Given the description of an element on the screen output the (x, y) to click on. 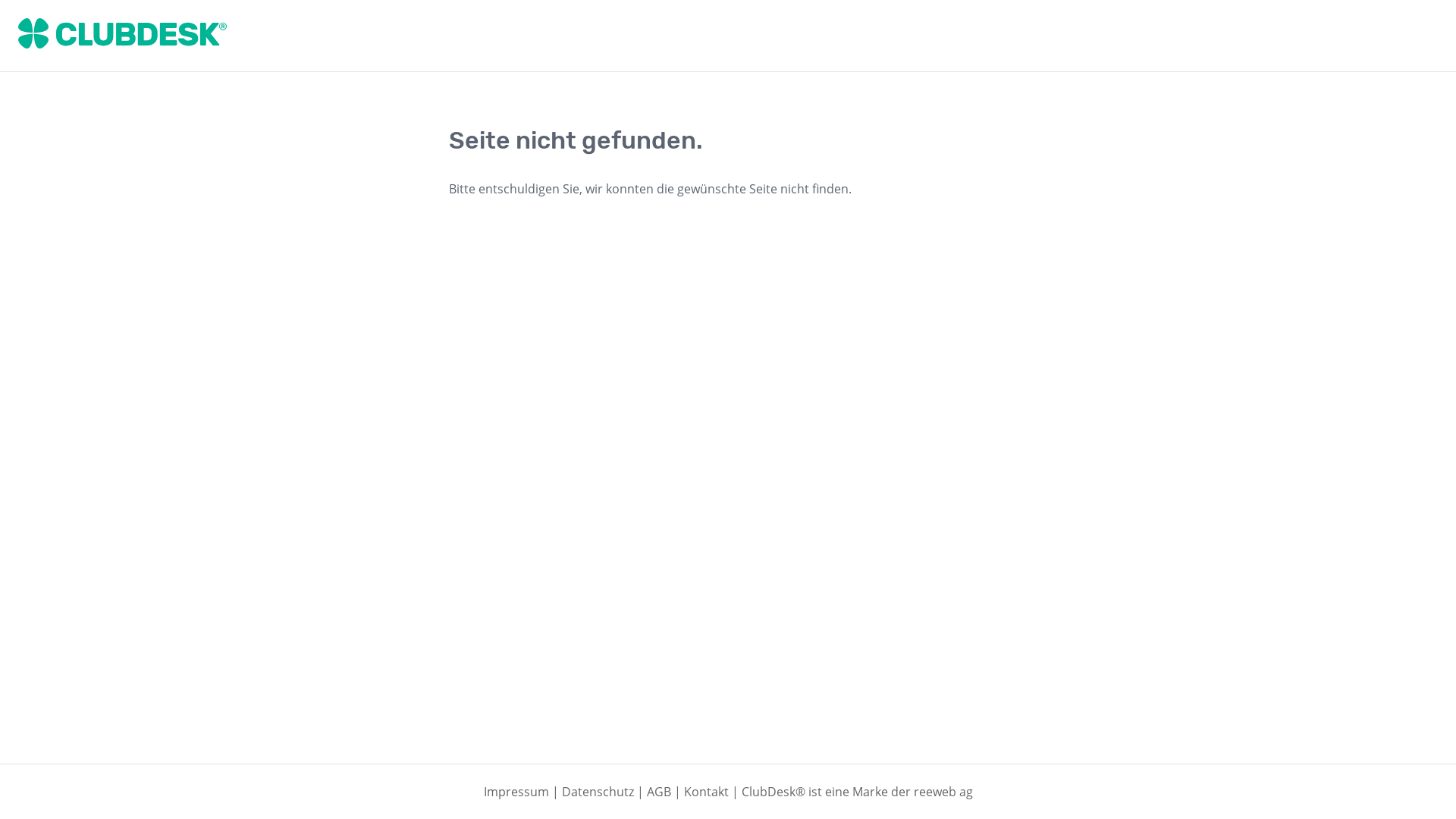
Impressum Element type: text (516, 791)
Datenschutz Element type: text (597, 791)
Kontakt Element type: text (706, 791)
AGB Element type: text (658, 791)
